Given the description of an element on the screen output the (x, y) to click on. 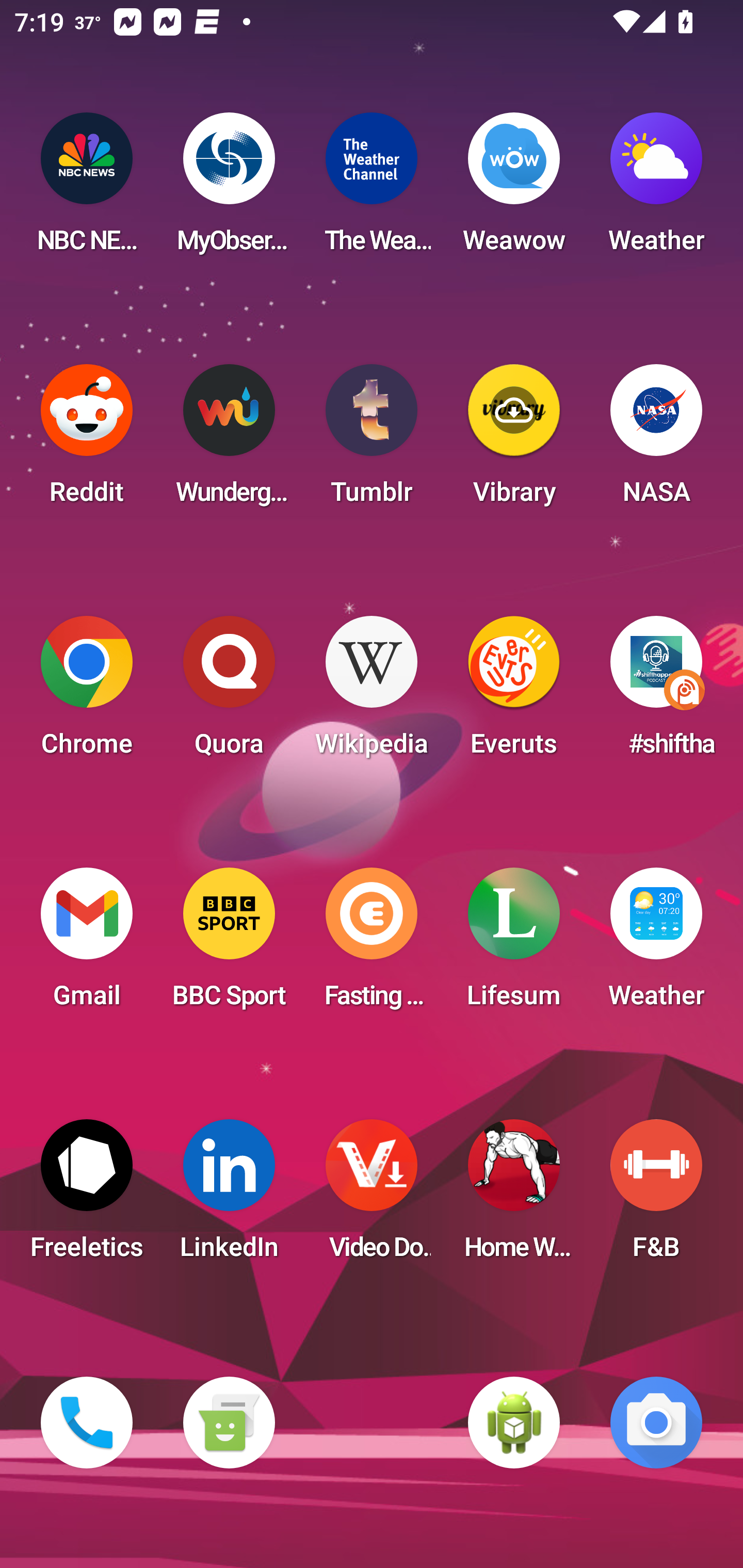
NBC NEWS (86, 188)
MyObservatory (228, 188)
The Weather Channel (371, 188)
Weawow (513, 188)
Weather (656, 188)
Reddit (86, 440)
Wunderground (228, 440)
Tumblr (371, 440)
Vibrary (513, 440)
NASA (656, 440)
Chrome (86, 692)
Quora (228, 692)
Wikipedia (371, 692)
Everuts (513, 692)
#shifthappens in the Digital Workplace Podcast (656, 692)
Gmail (86, 943)
BBC Sport (228, 943)
Fasting Coach (371, 943)
Lifesum (513, 943)
Weather (656, 943)
Freeletics (86, 1195)
LinkedIn (228, 1195)
Video Downloader & Ace Player (371, 1195)
Home Workout (513, 1195)
F&B (656, 1195)
Phone (86, 1422)
Messaging (228, 1422)
WebView Browser Tester (513, 1422)
Camera (656, 1422)
